Given the description of an element on the screen output the (x, y) to click on. 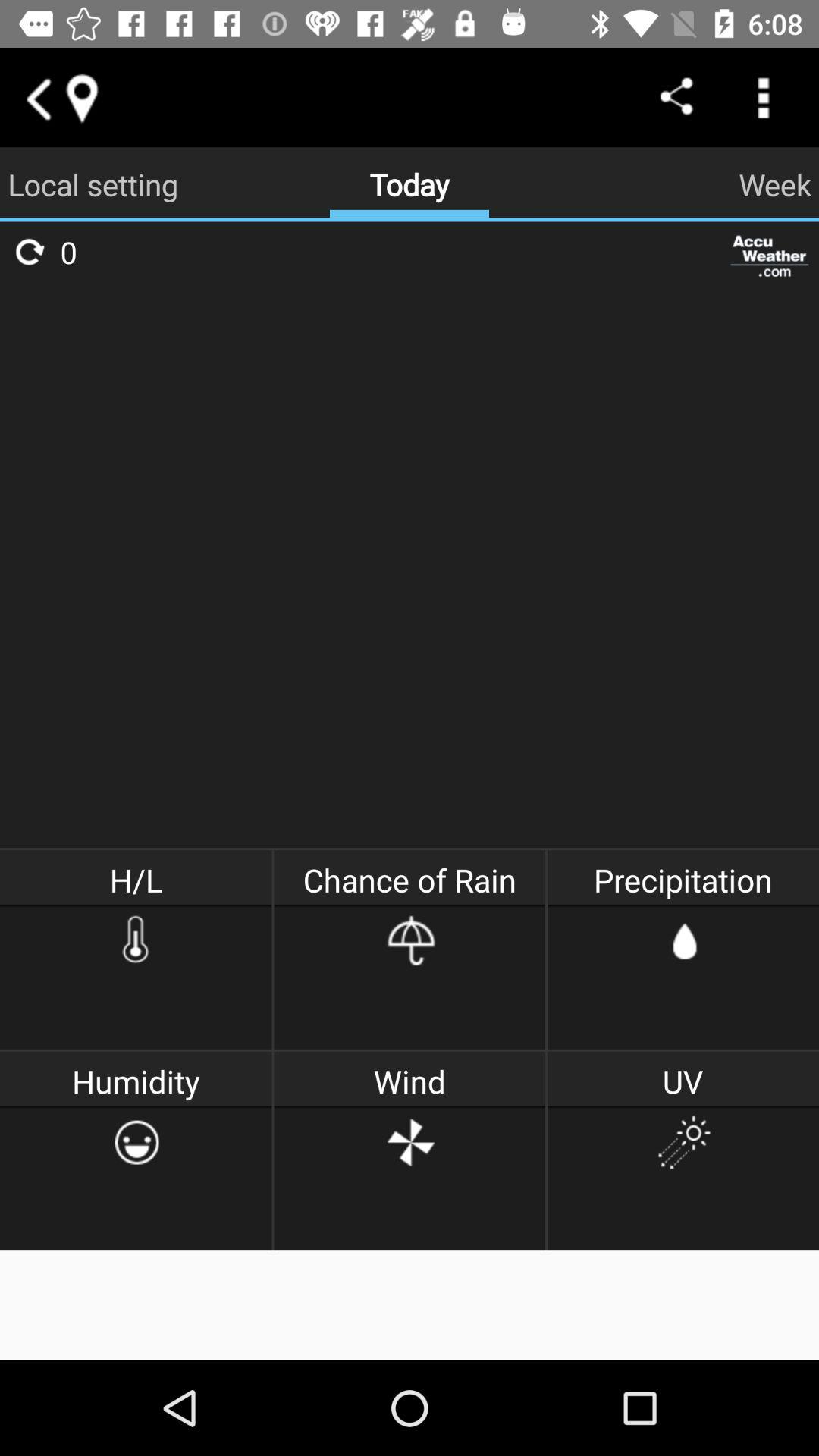
location button (81, 97)
